Given the description of an element on the screen output the (x, y) to click on. 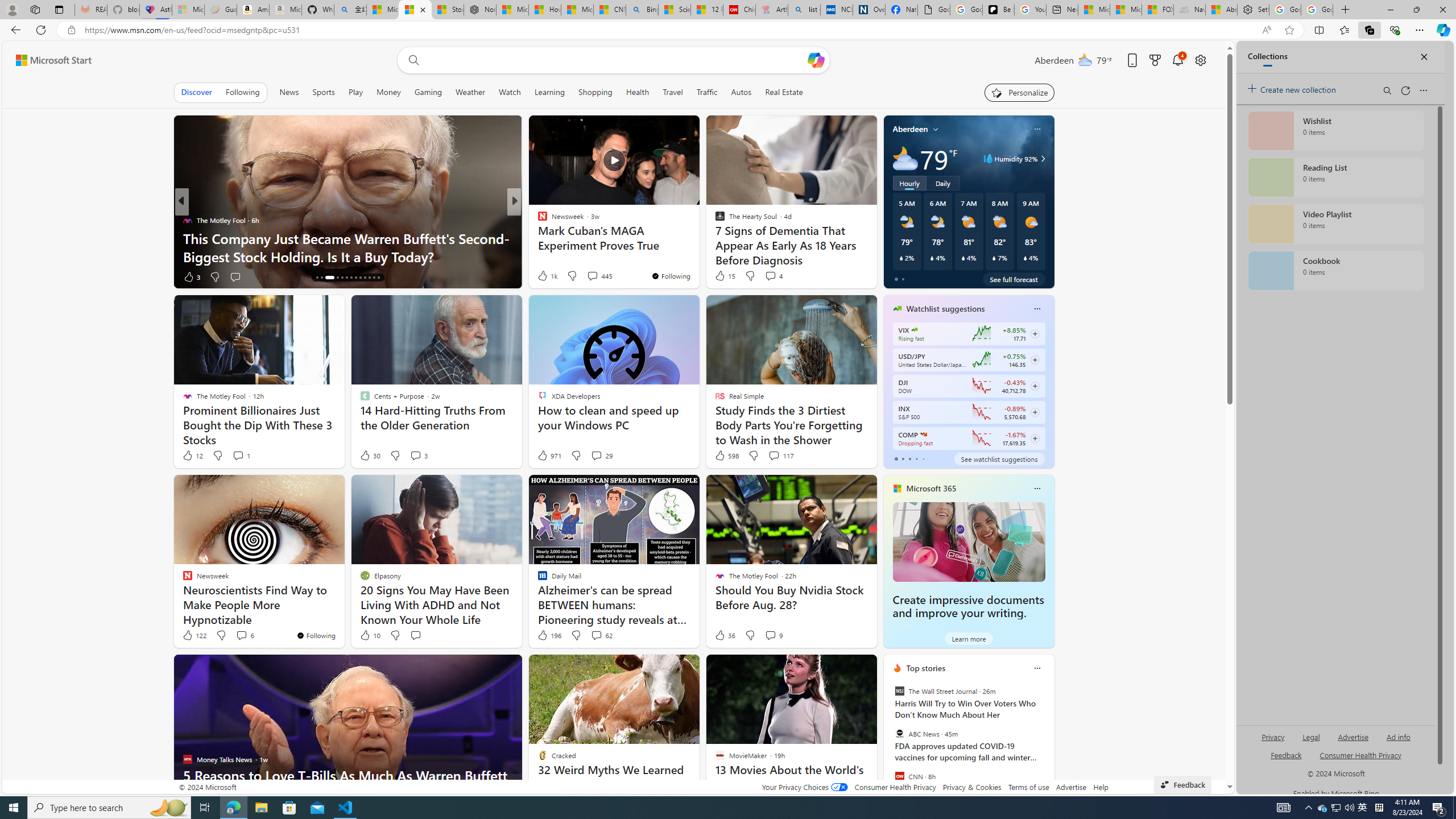
25 Like (543, 276)
Bored Panda (537, 219)
View comments 117 Comment (773, 455)
AutomationID: tab-21 (355, 277)
Learn more (967, 638)
View comments 3 Comment (418, 455)
Create impressive documents and improve your writing. (968, 541)
AutomationID: tab-25 (374, 277)
